Given the description of an element on the screen output the (x, y) to click on. 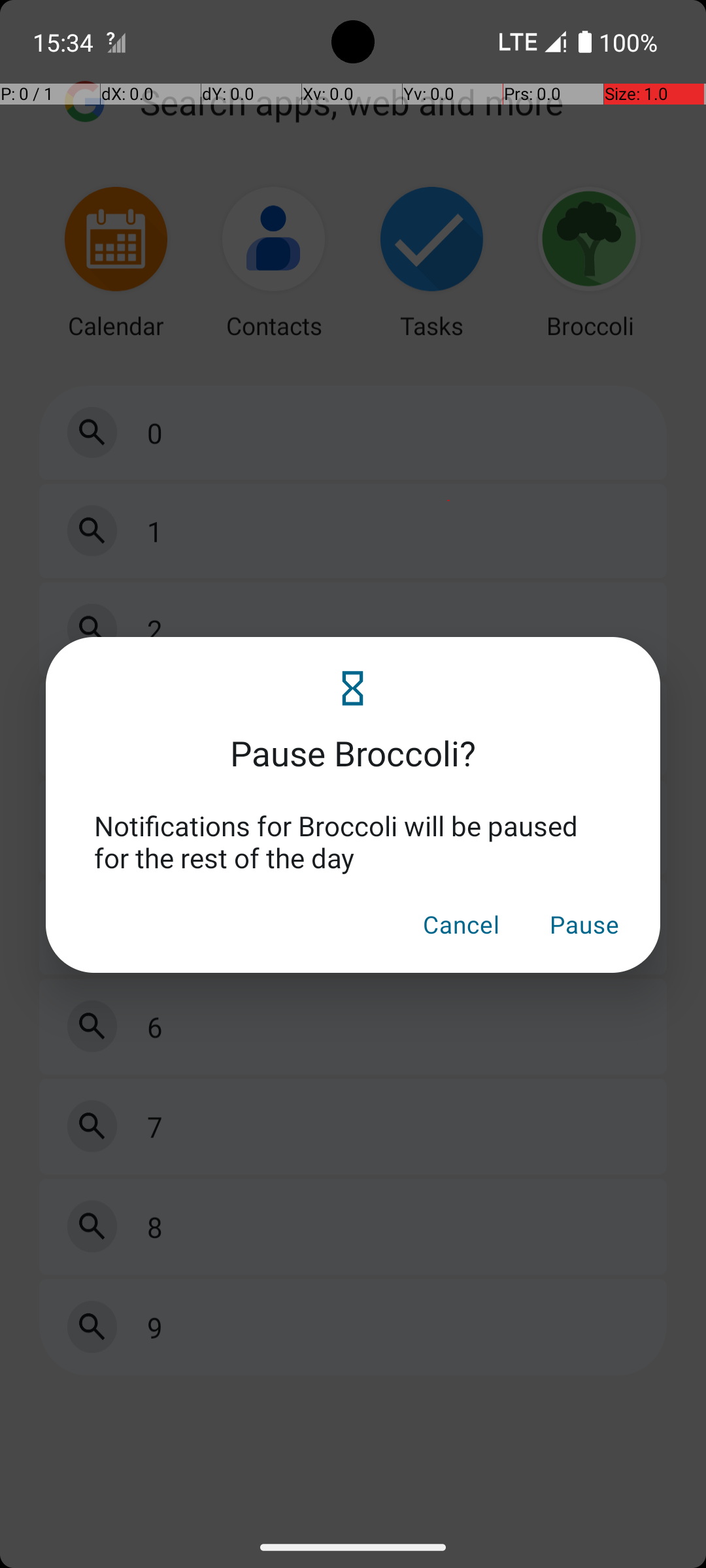
Pause Broccoli? Element type: android.widget.TextView (352, 736)
Notifications for Broccoli will be paused for the rest of the day Element type: android.widget.TextView (352, 841)
